Given the description of an element on the screen output the (x, y) to click on. 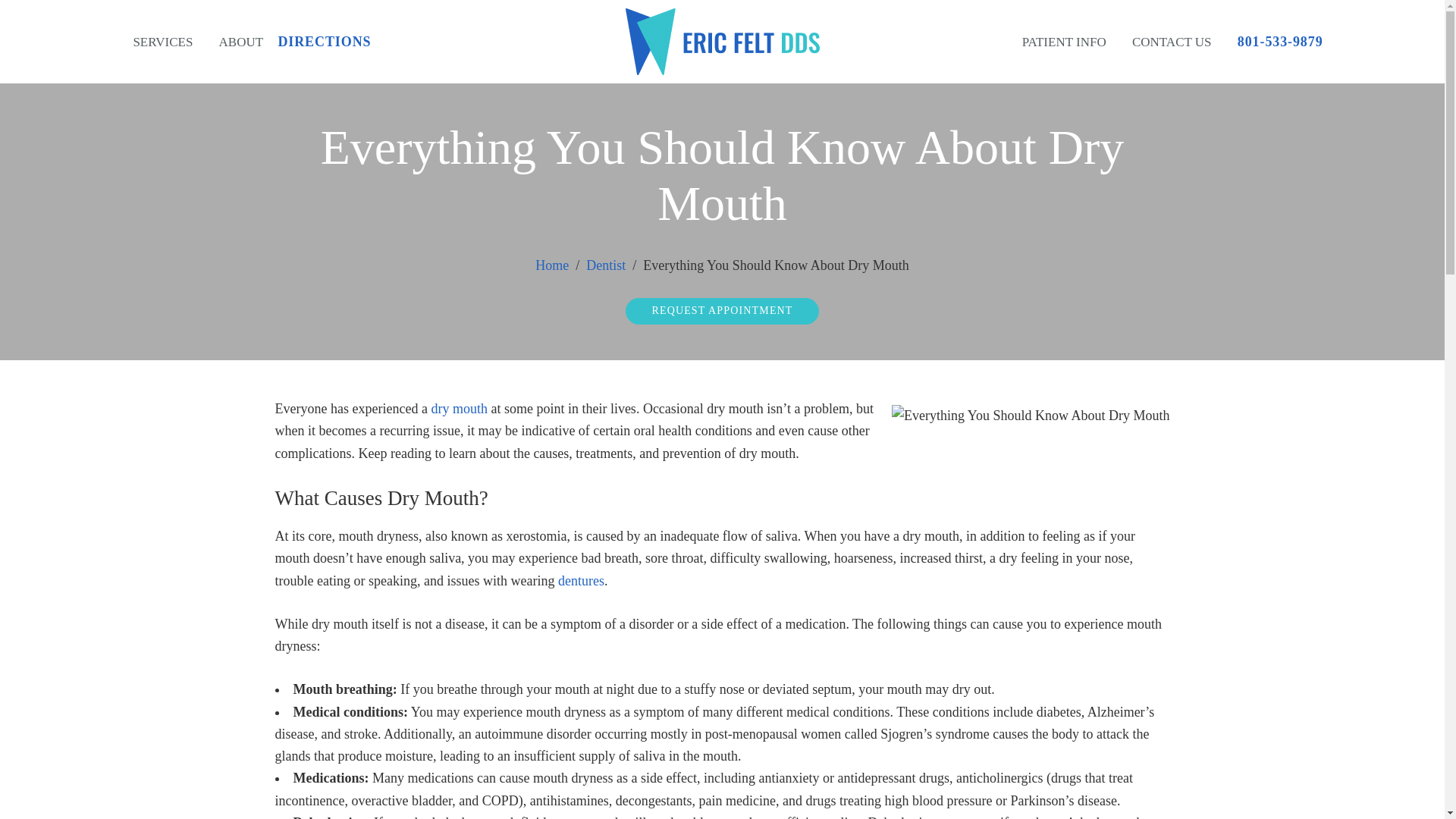
PATIENT INFO (1064, 41)
Everything You Should Know About Dry Mouth (1030, 415)
DIRECTIONS (329, 41)
CONTACT US (1172, 41)
ABOUT (241, 41)
SERVICES (161, 41)
